Given the description of an element on the screen output the (x, y) to click on. 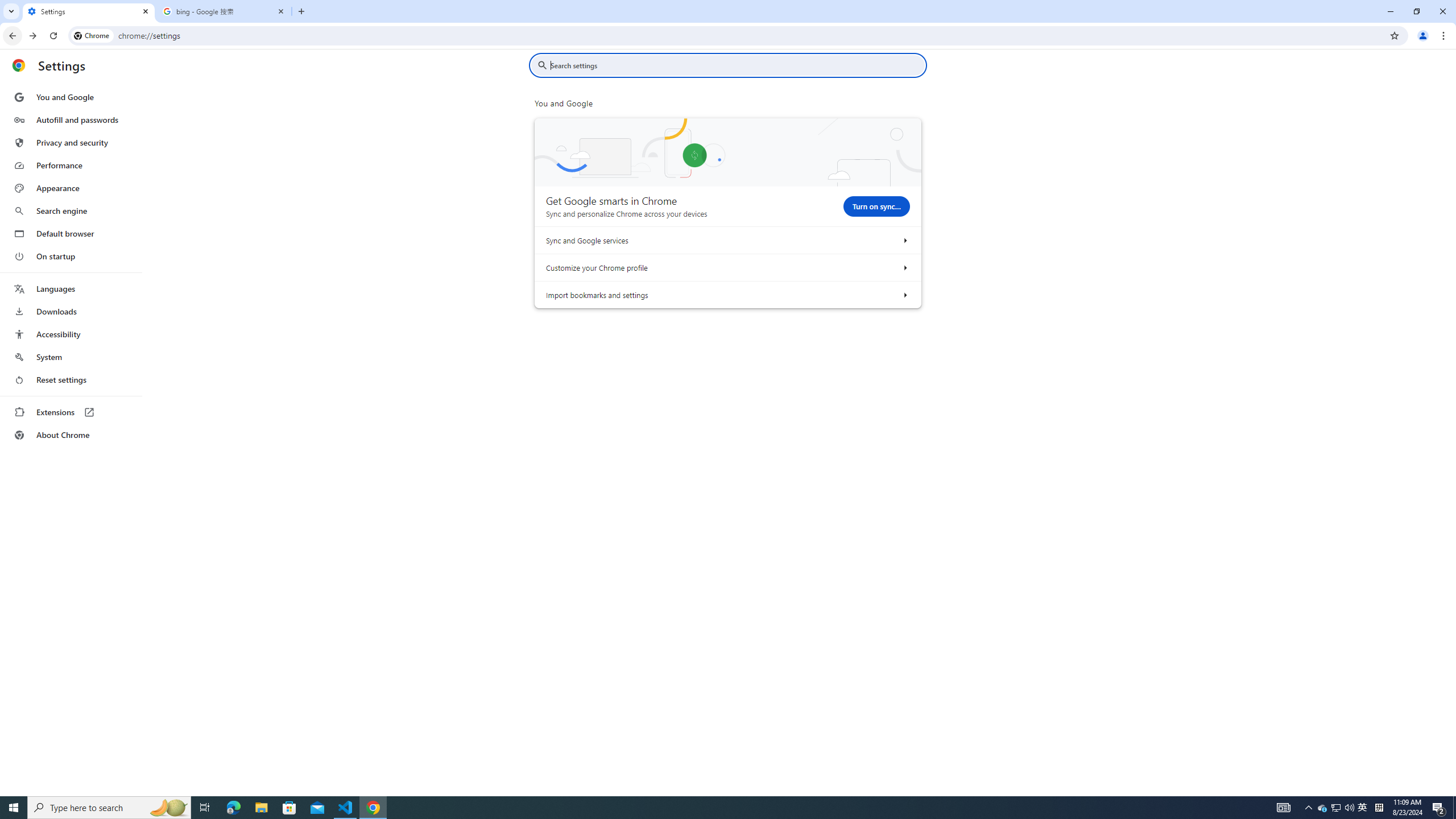
Languages (70, 288)
Import bookmarks and settings (904, 294)
Performance (70, 164)
On startup (70, 255)
Default browser (70, 233)
Settings (88, 11)
Search settings (735, 65)
Appearance (70, 187)
Sync and Google services (904, 239)
Privacy and security (70, 142)
